Given the description of an element on the screen output the (x, y) to click on. 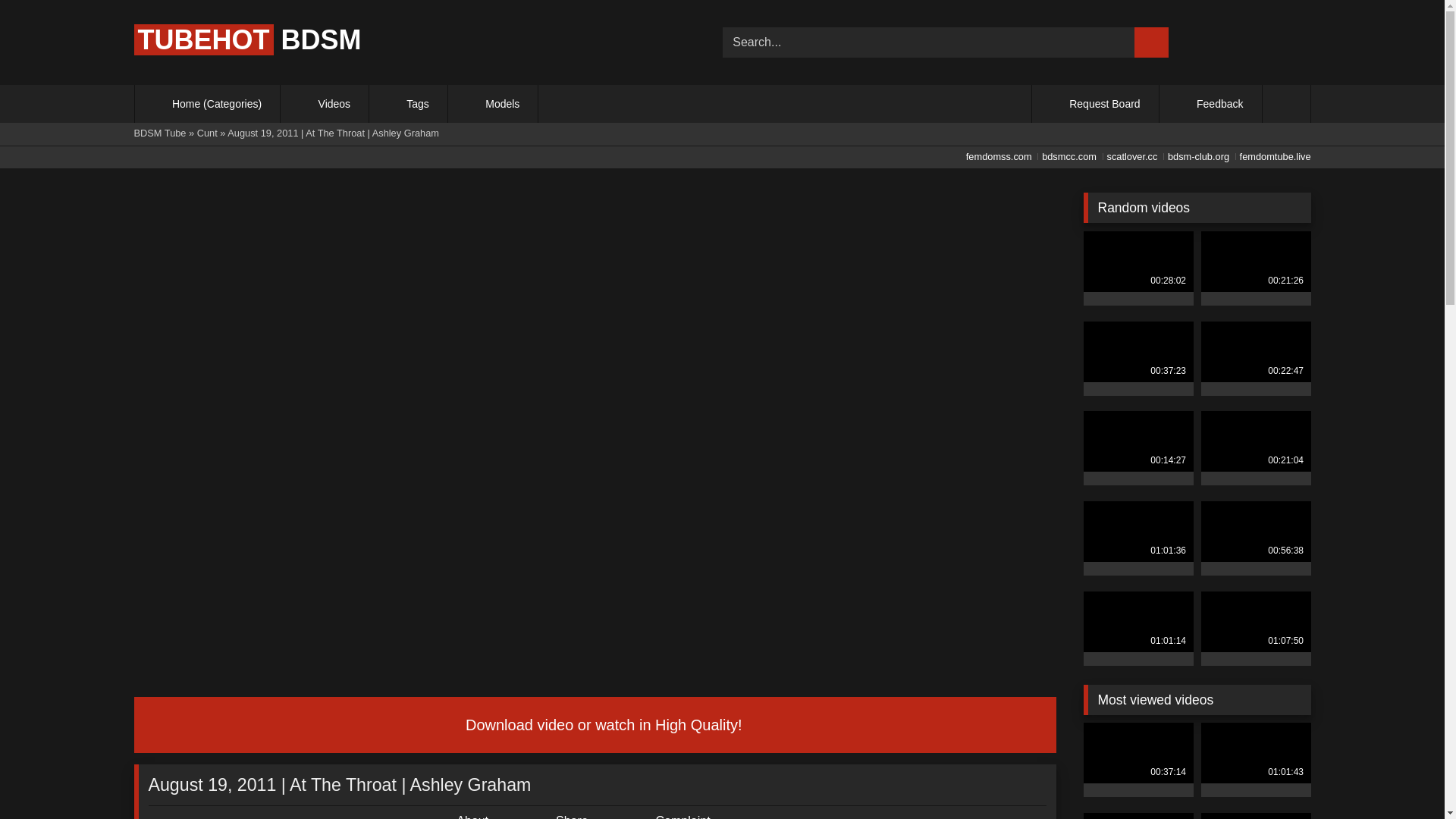
Feedback (1210, 103)
bdsm-club.org (1194, 156)
femdomss.com (995, 156)
Request Board (1095, 103)
TUBEHOT BDSM (247, 39)
femdomtube.live (1271, 156)
Tags (407, 103)
scatlover.cc (1128, 156)
Tags (407, 103)
Videos (324, 103)
